Given the description of an element on the screen output the (x, y) to click on. 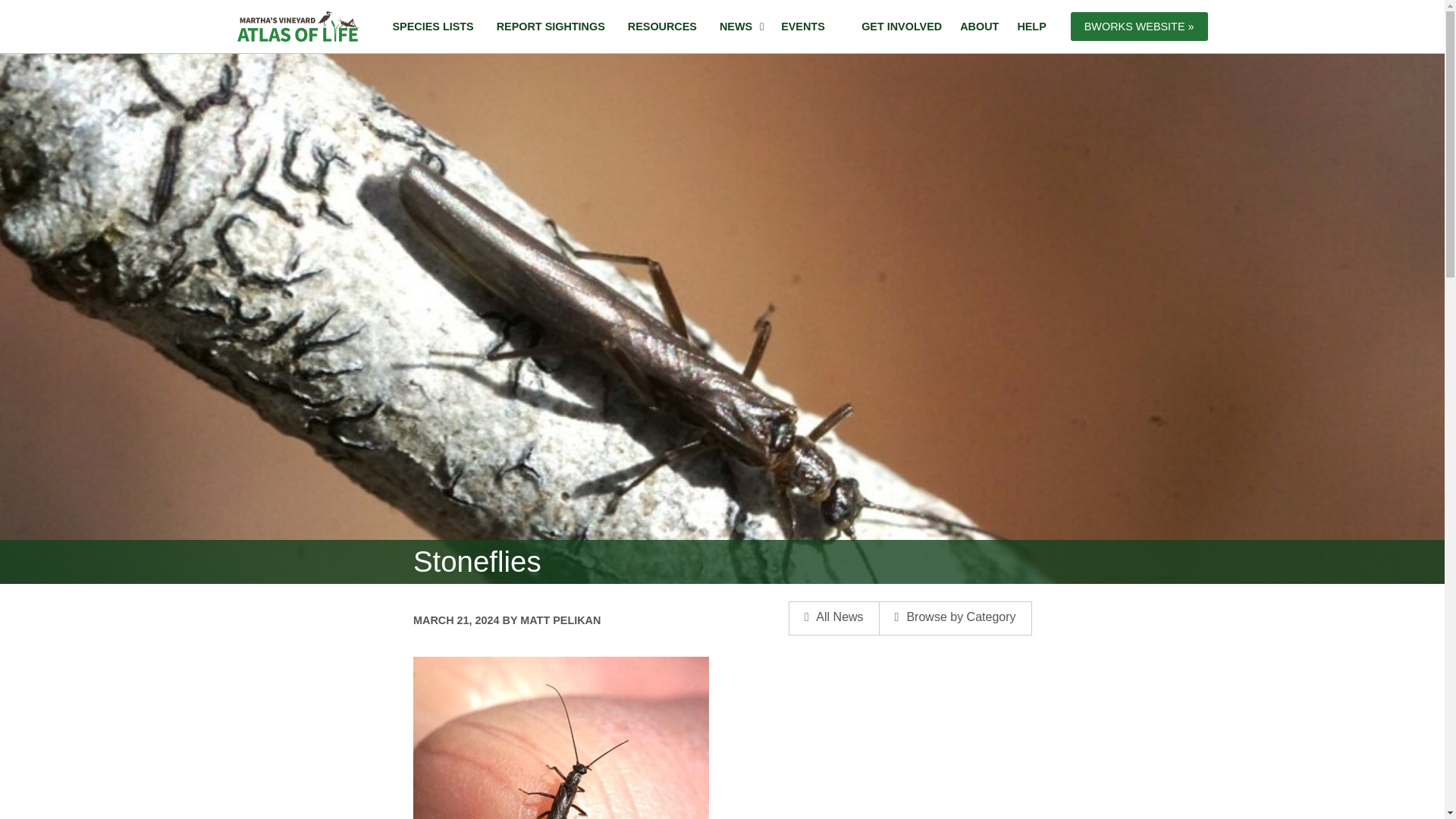
GET INVOLVED (900, 26)
Vermont Atlas of Life: Vermont Center for Ecostudies (296, 26)
NEWS (738, 26)
SPECIES LISTS (432, 26)
RESOURCES (661, 26)
REPORT SIGHTINGS (549, 26)
ABOUT (978, 26)
Browse by Category (955, 618)
EVENTS (802, 26)
